Given the description of an element on the screen output the (x, y) to click on. 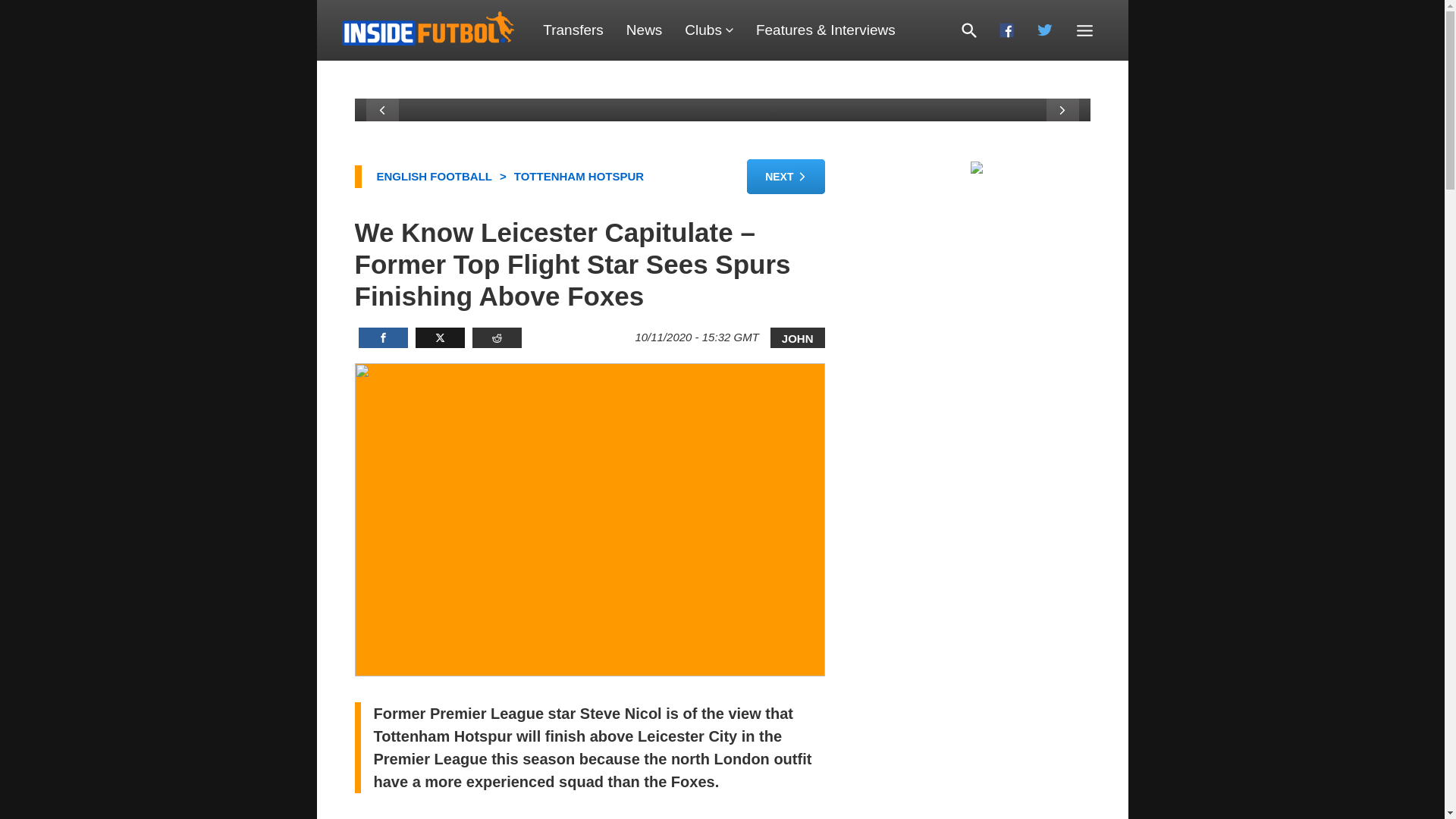
News (644, 30)
Clubs (708, 30)
Transfers (572, 30)
